Given the description of an element on the screen output the (x, y) to click on. 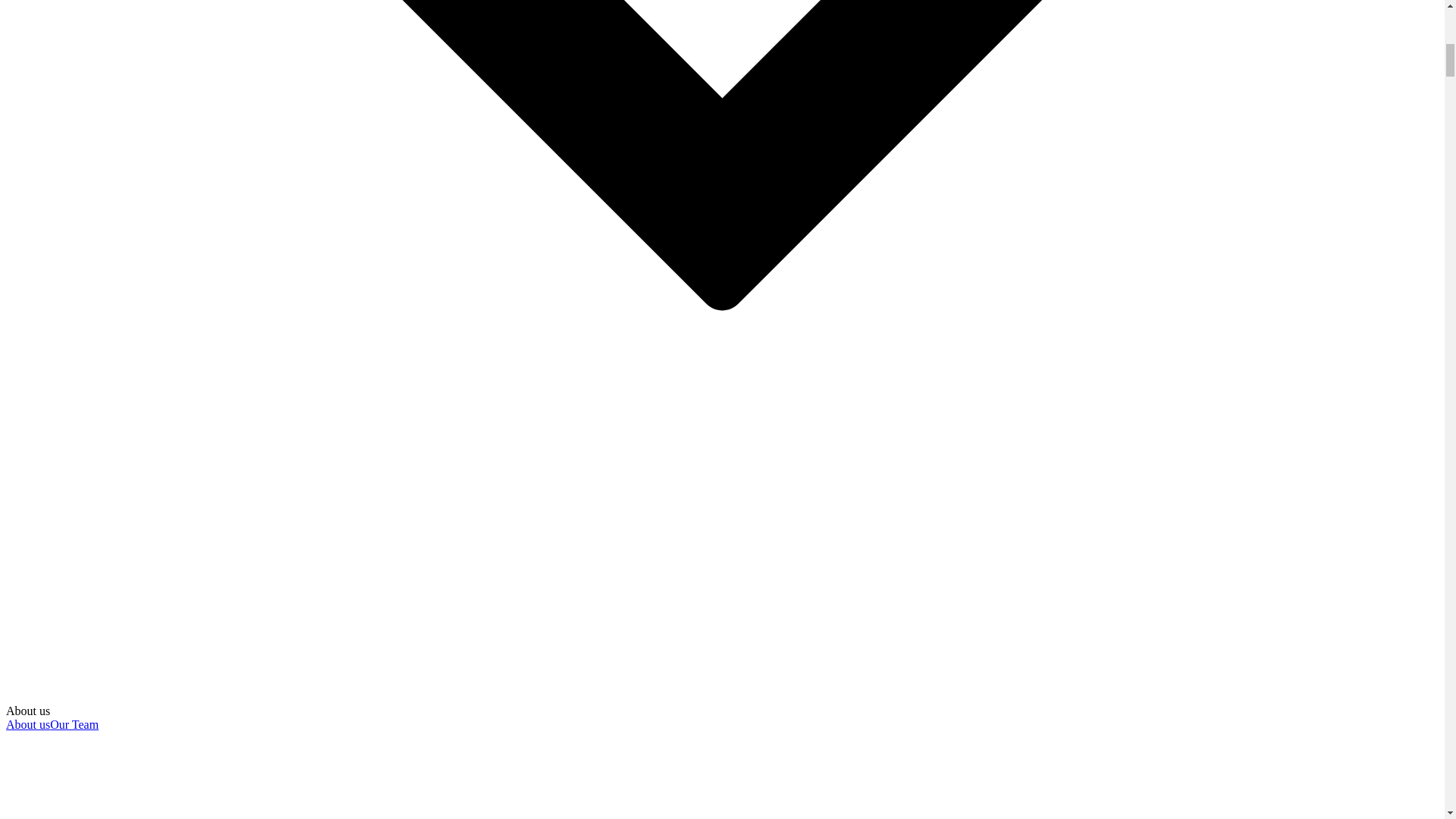
About us (27, 724)
Our Team (74, 724)
